Given the description of an element on the screen output the (x, y) to click on. 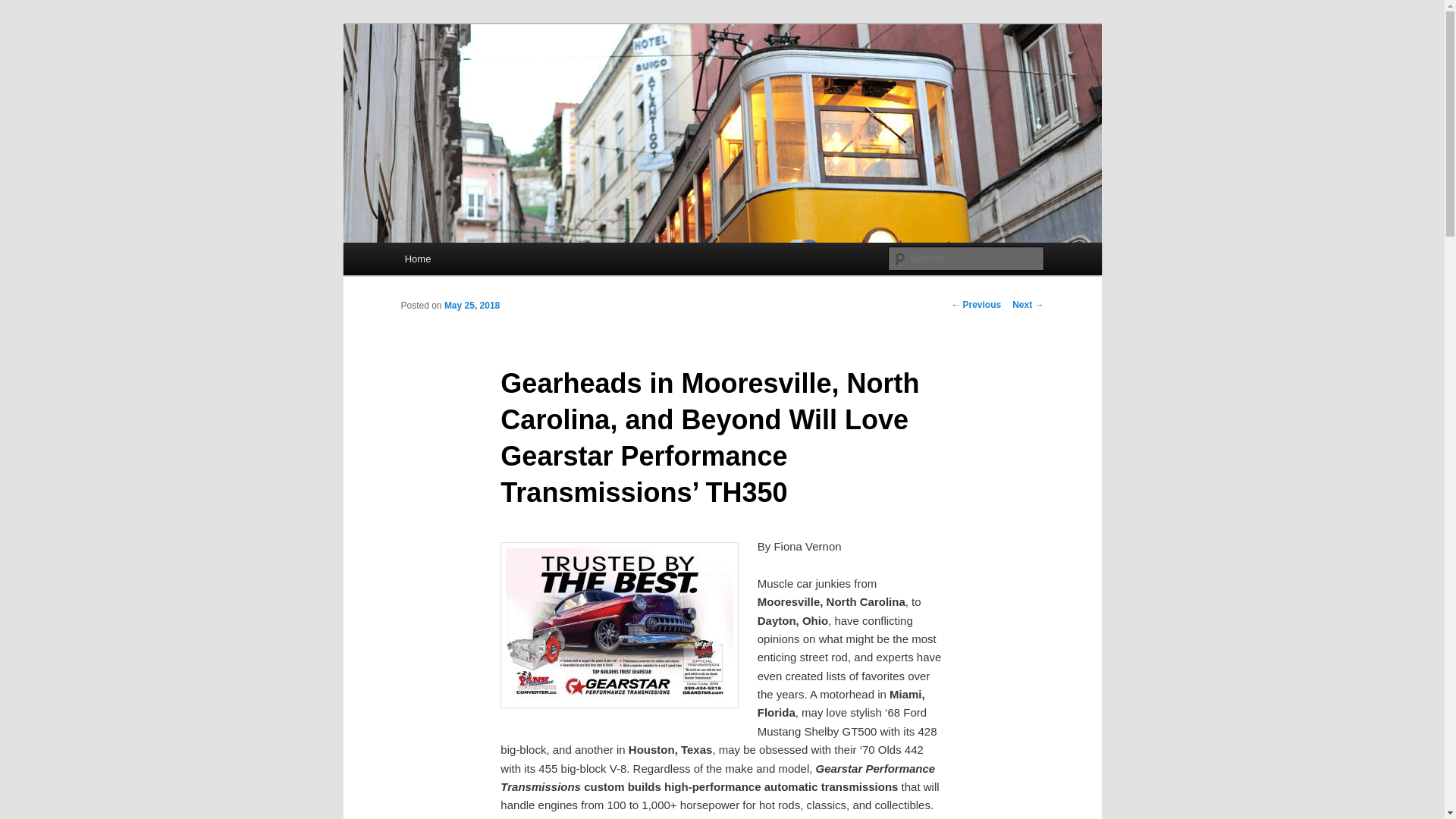
4:20 pm (471, 305)
May 25, 2018 (471, 305)
HourGlass Media (493, 78)
Search (24, 8)
Home (417, 258)
